Given the description of an element on the screen output the (x, y) to click on. 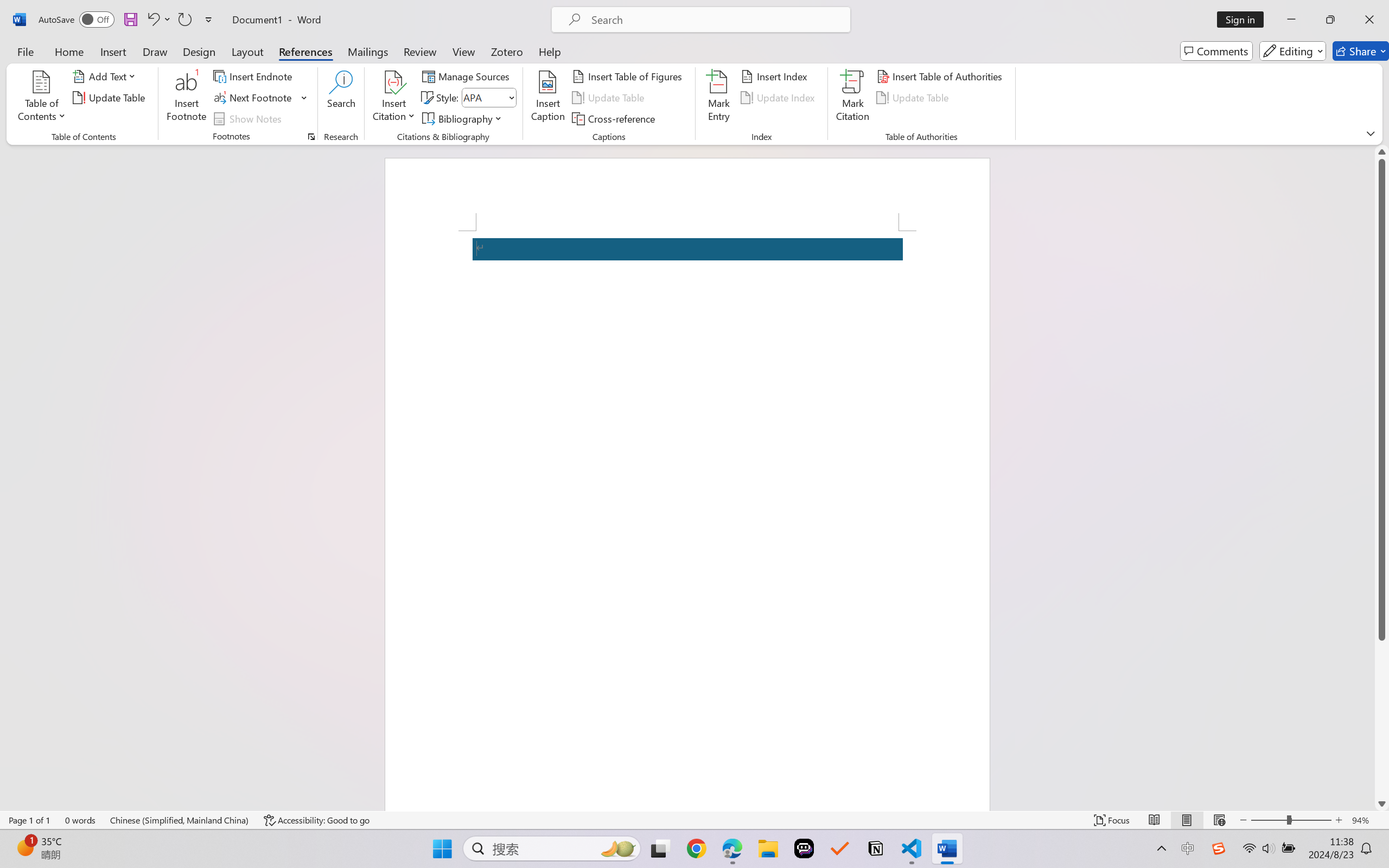
Update Table... (110, 97)
Add Text (106, 75)
Bibliography (463, 118)
Insert Index... (775, 75)
Insert Citation (393, 97)
Insert Footnote (186, 97)
Undo Apply Quick Style Set (158, 19)
Insert Endnote (253, 75)
Update Index (778, 97)
Style (483, 96)
Repeat Accessibility Checker (184, 19)
